Given the description of an element on the screen output the (x, y) to click on. 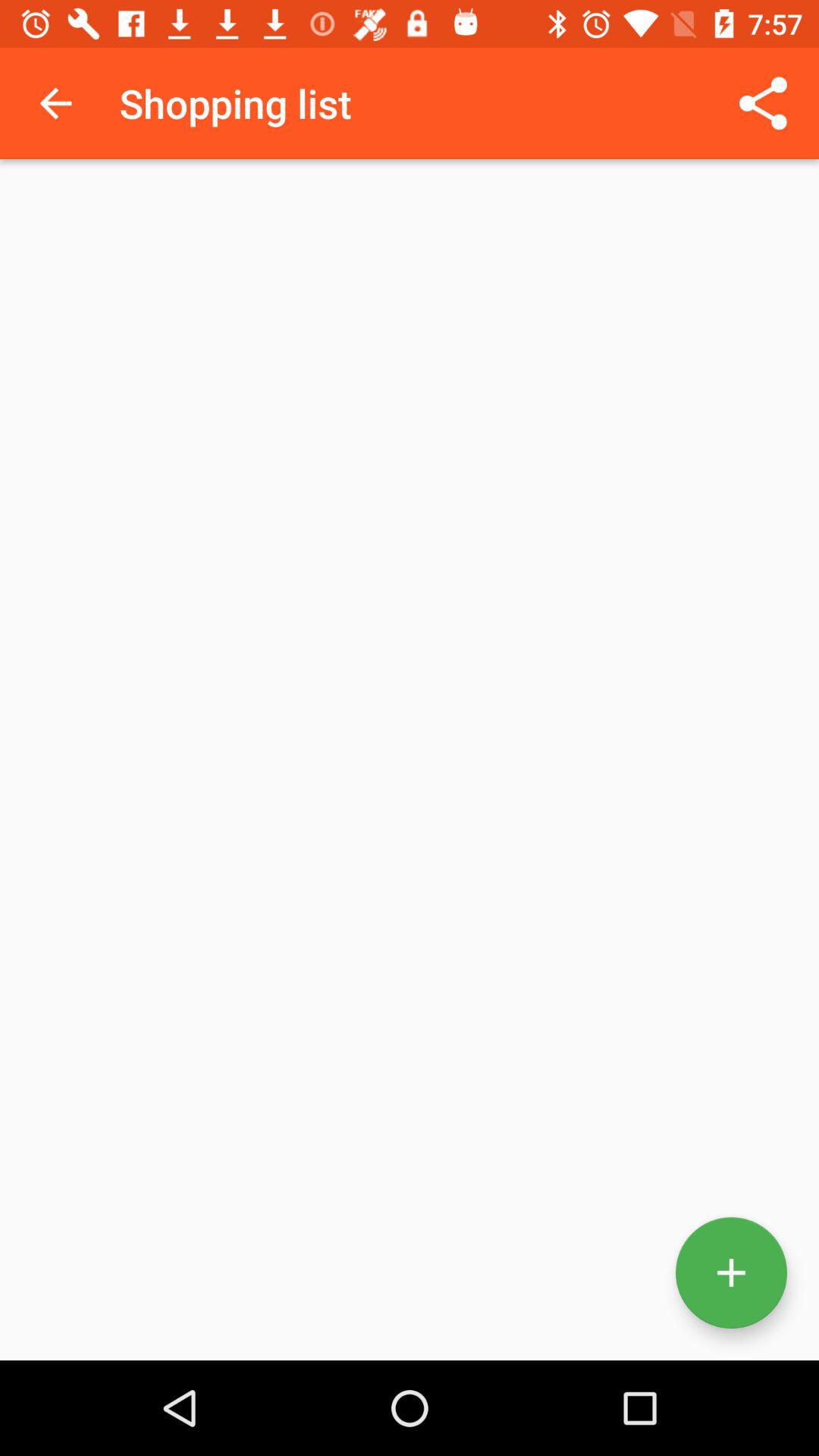
select icon to the right of shopping list item (763, 103)
